Given the description of an element on the screen output the (x, y) to click on. 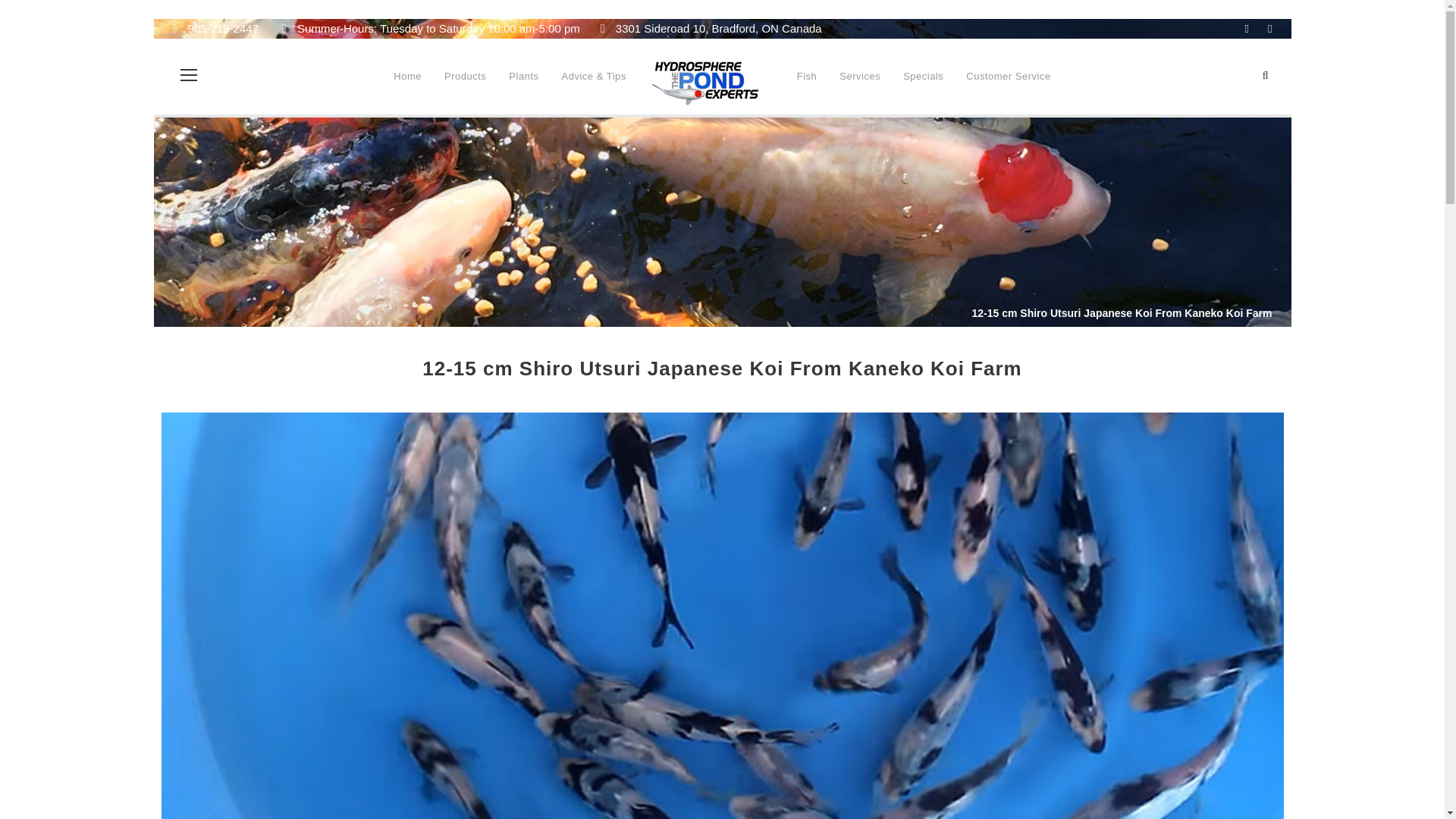
hydrosphere-the-pond-experts (705, 83)
